Given the description of an element on the screen output the (x, y) to click on. 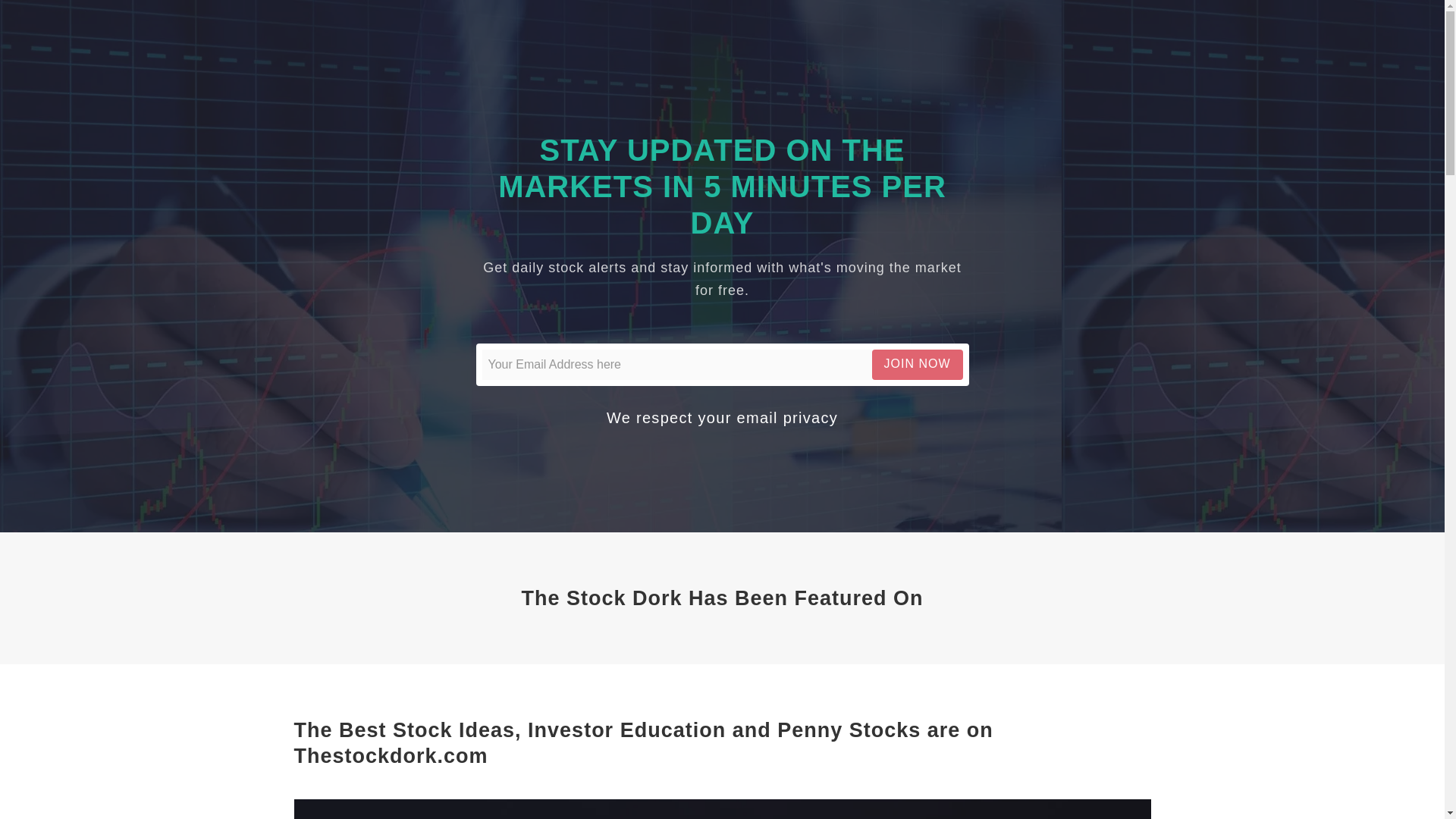
email privacy (787, 417)
Privacy Policy (787, 417)
Join Now (917, 363)
Join Now (917, 363)
